Given the description of an element on the screen output the (x, y) to click on. 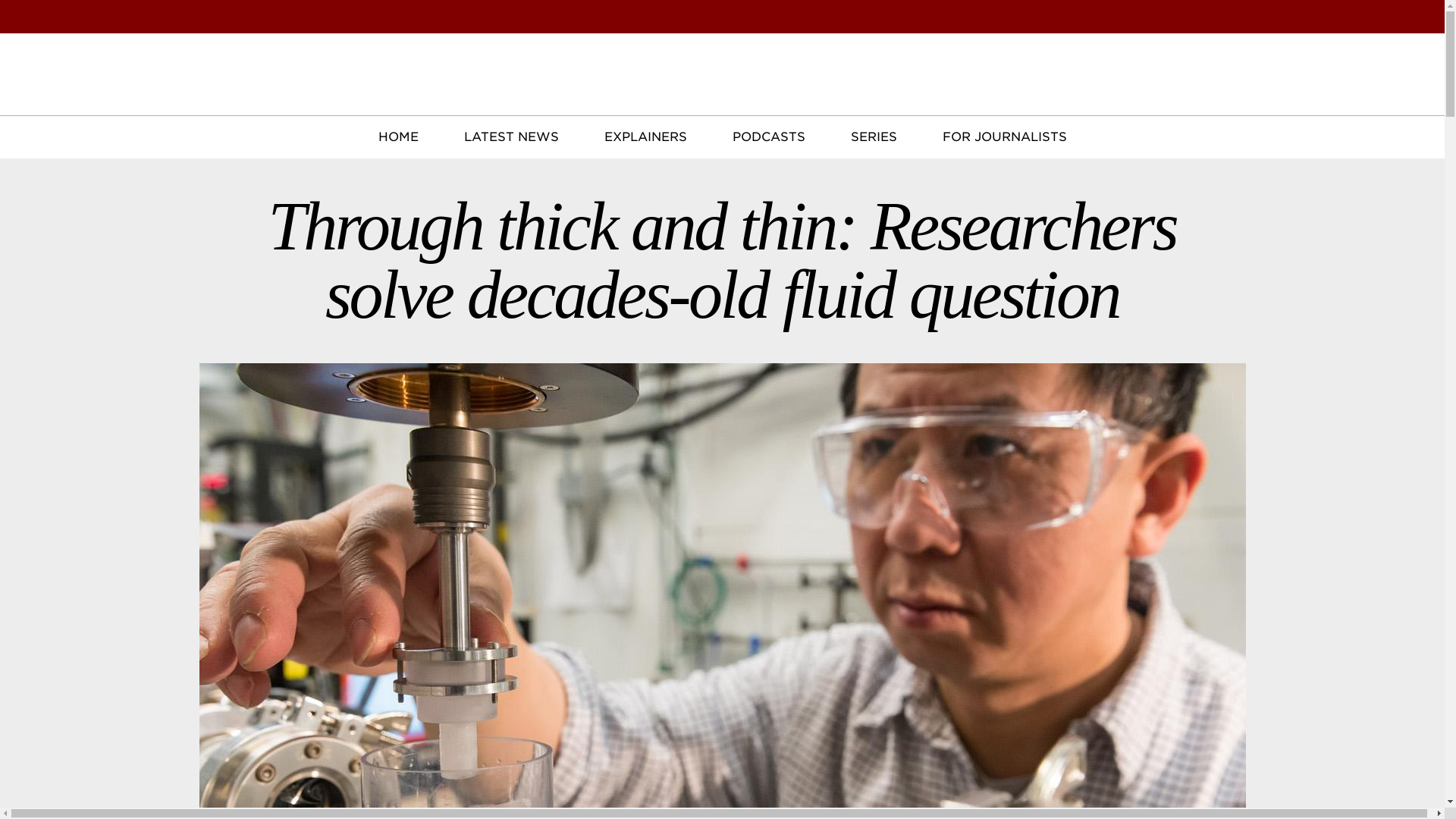
The University of Chicago (1422, 16)
The University of Chicago (106, 69)
HOME (106, 36)
FOR JOURNALISTS (397, 137)
Search (1003, 137)
EXPLAINERS (1422, 16)
PODCASTS (644, 137)
Home (768, 137)
SERIES (721, 91)
The University of Chicago (873, 137)
LATEST NEWS (106, 69)
